Given the description of an element on the screen output the (x, y) to click on. 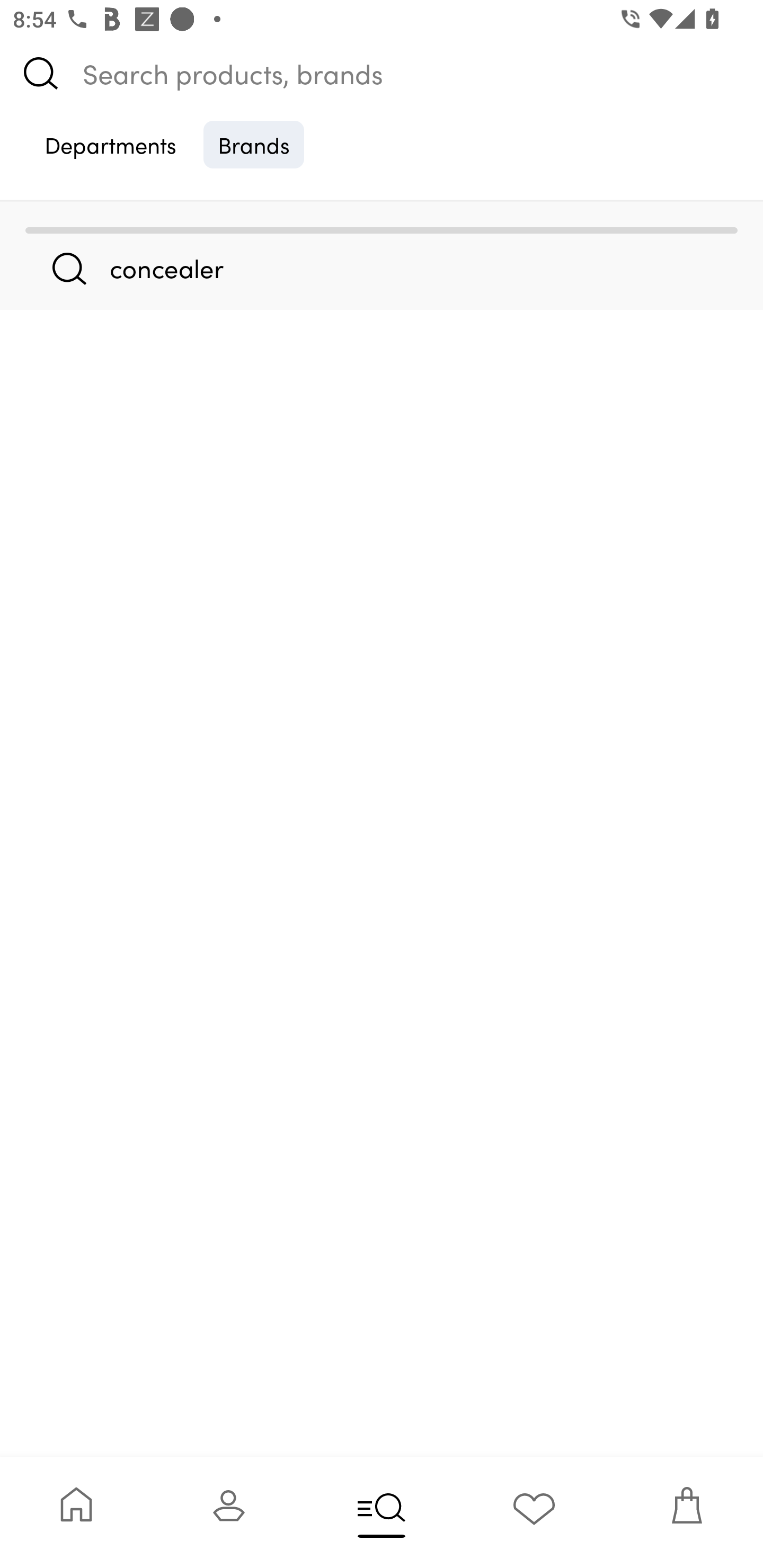
Search products, brands (381, 72)
Departments (110, 143)
Brands (253, 143)
